Given the description of an element on the screen output the (x, y) to click on. 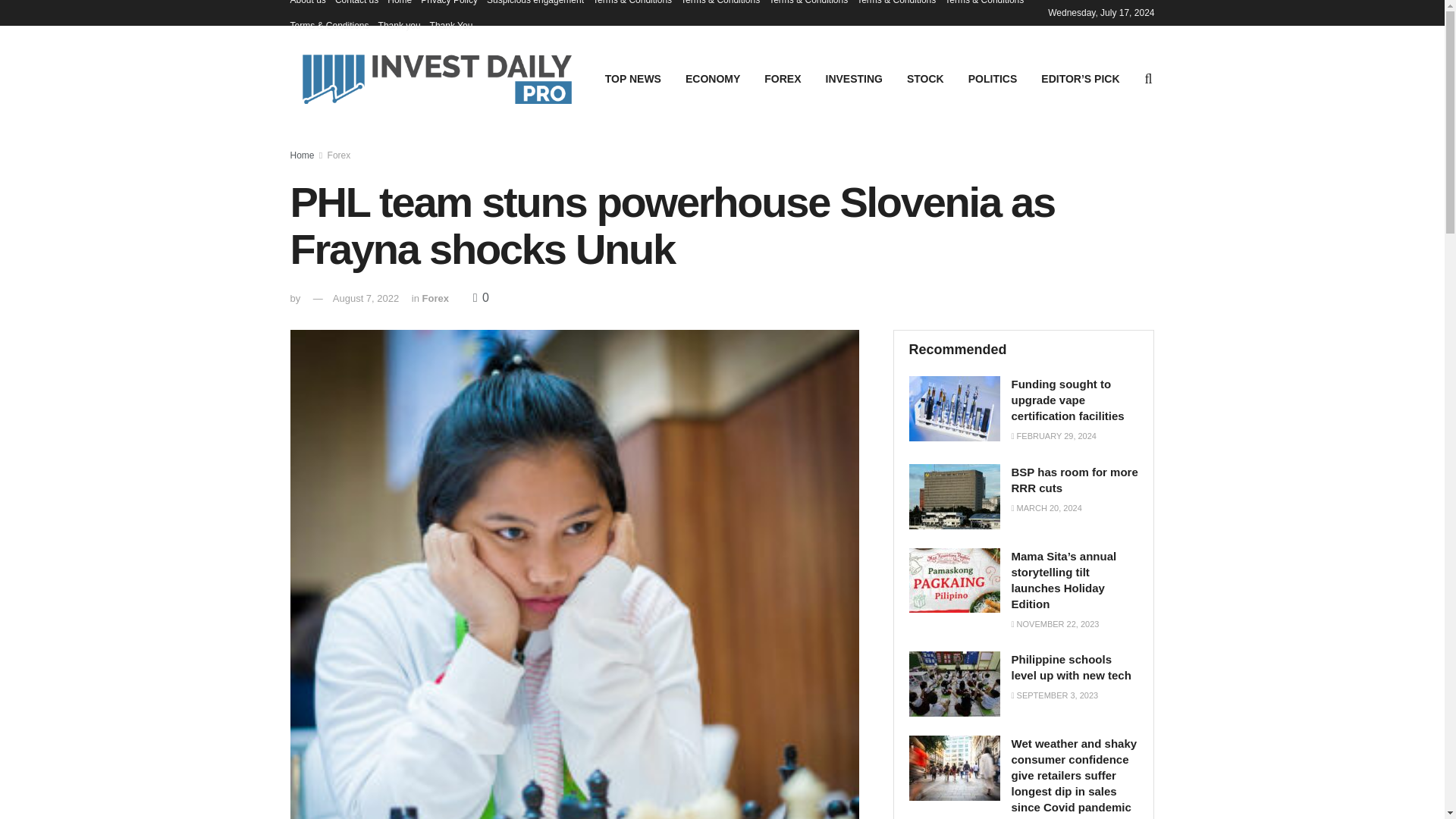
FOREX (782, 78)
Thank you (399, 25)
Home (399, 6)
STOCK (925, 78)
About us (306, 6)
Suspicious engagement (534, 6)
August 7, 2022 (365, 297)
TOP NEWS (632, 78)
Thank You (451, 25)
ECONOMY (712, 78)
INVESTING (854, 78)
Home (301, 154)
Contact us (356, 6)
Privacy Policy (448, 6)
Forex (338, 154)
